Given the description of an element on the screen output the (x, y) to click on. 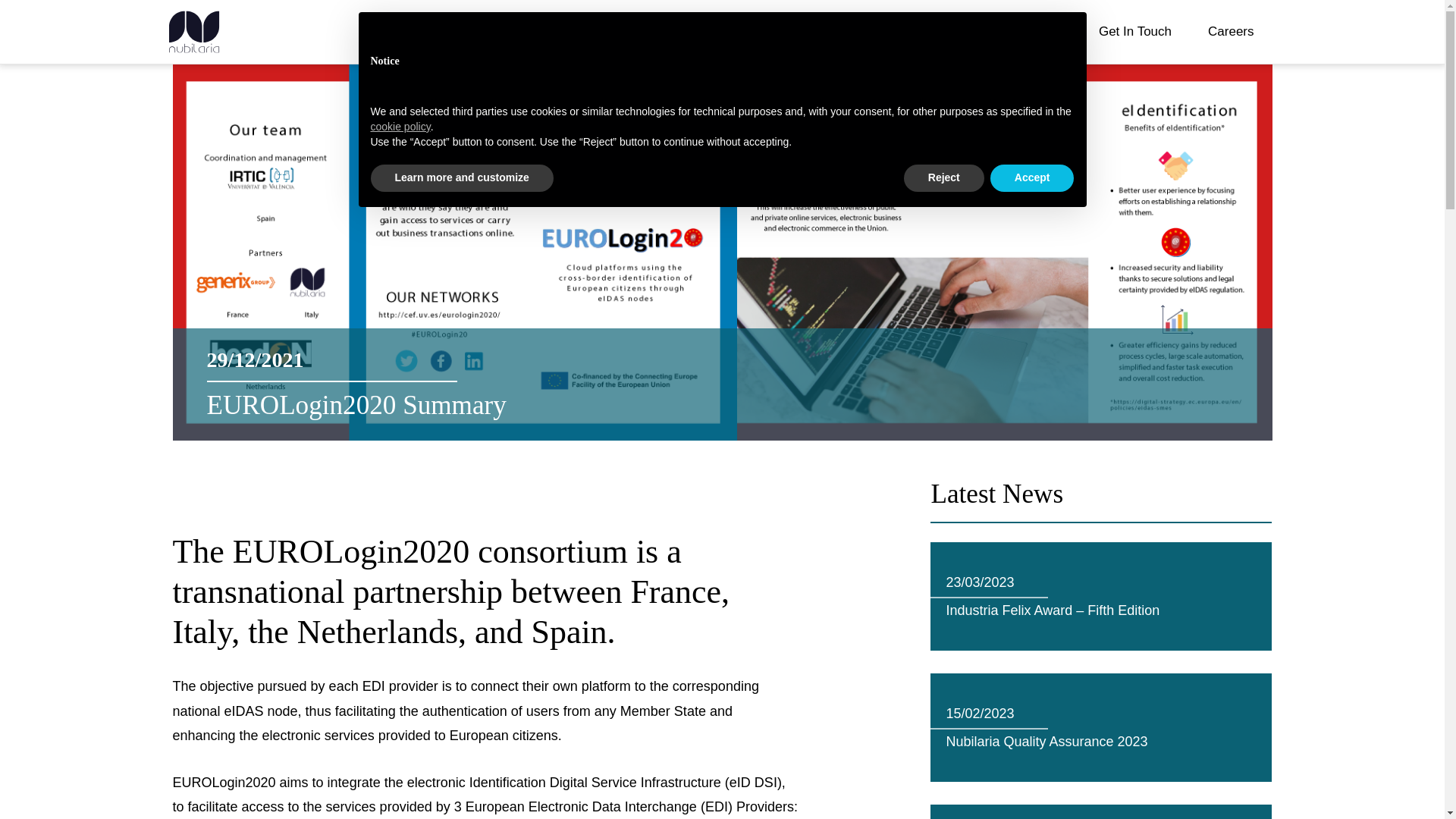
Careers (1230, 31)
Who we are (883, 31)
News (970, 31)
What can we do for you? (601, 31)
Get In Touch (1134, 31)
Events (1042, 31)
Area of expertise (764, 31)
